Given the description of an element on the screen output the (x, y) to click on. 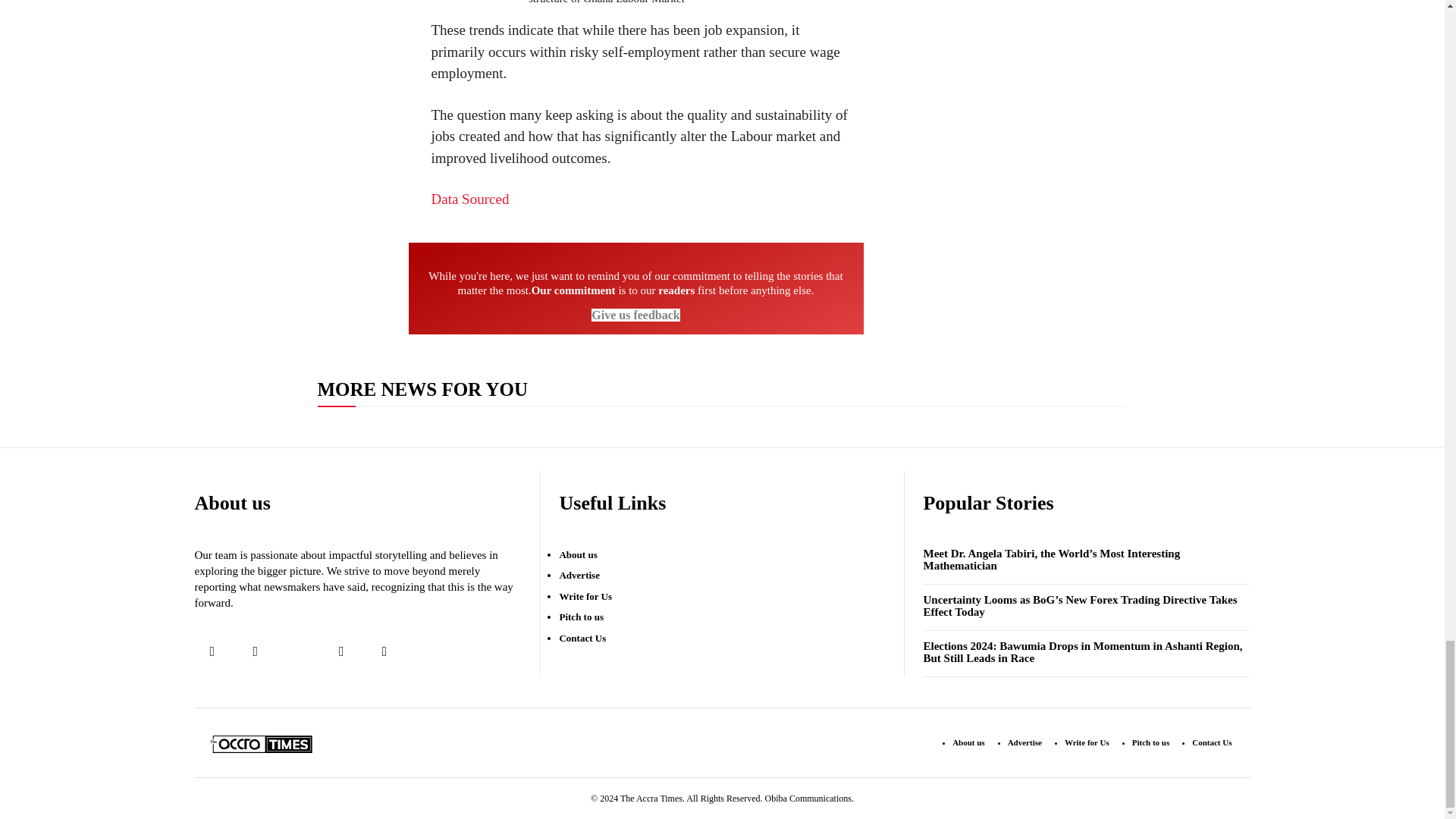
Give us feedback (635, 314)
